Given the description of an element on the screen output the (x, y) to click on. 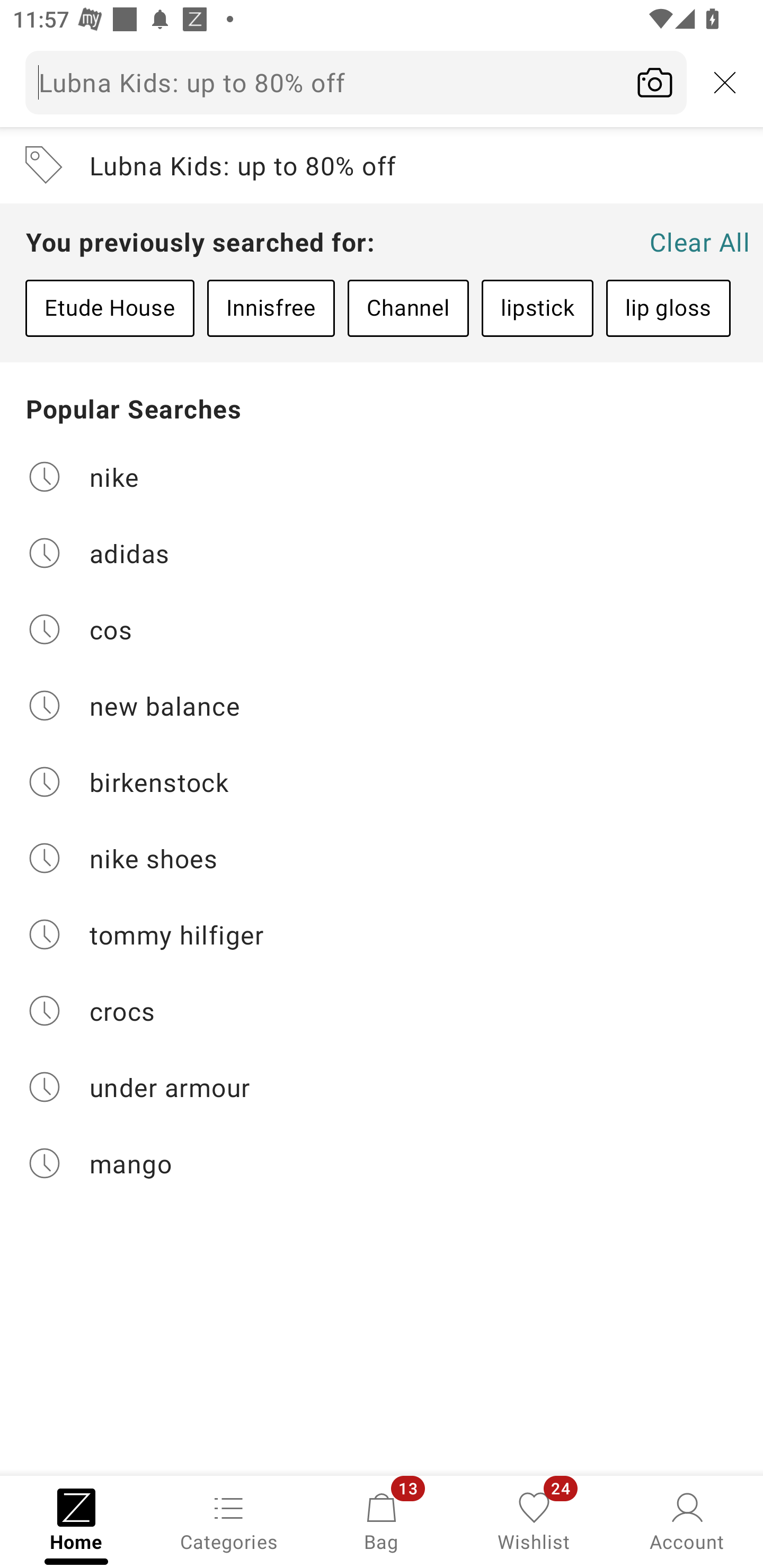
Lubna Kids: up to 80% off (355, 82)
Lubna Kids: up to 80% off (381, 165)
Clear All (699, 241)
Etude House (109, 308)
Innisfree (270, 308)
Channel (408, 308)
lipstick (537, 308)
lip gloss (667, 308)
nike (381, 476)
adidas (381, 552)
Get the Best Birthday Deals Here! Campaign banner (381, 939)
new balance (381, 705)
birkenstock (381, 781)
nike shoes (381, 858)
tommy hilfiger (381, 934)
crocs (381, 1010)
under armour (381, 1086)
mango (381, 1163)
Categories (228, 1519)
Bag, 13 new notifications Bag (381, 1519)
Wishlist, 24 new notifications Wishlist (533, 1519)
Account (686, 1519)
